Given the description of an element on the screen output the (x, y) to click on. 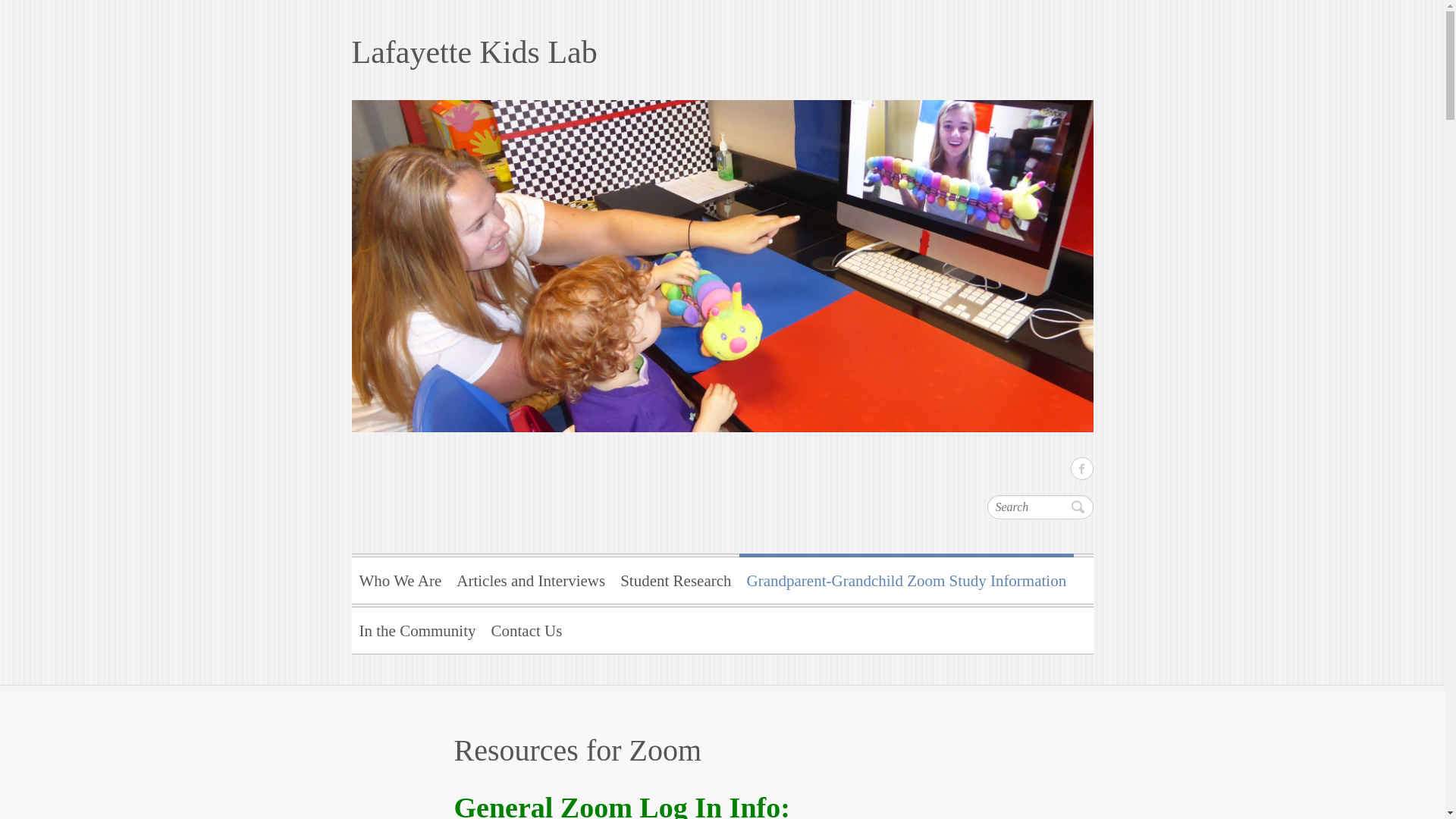
Student Research (675, 578)
In the Community (417, 628)
Grandparent-Grandchild Zoom Study Information (906, 578)
Who We Are (400, 578)
Lafayette Kids Lab Facebook (1081, 468)
Contact Us (526, 628)
Lafayette Kids Lab on Facebook (1081, 468)
Lafayette Kids Lab (722, 52)
Articles and Interviews (530, 578)
